Given the description of an element on the screen output the (x, y) to click on. 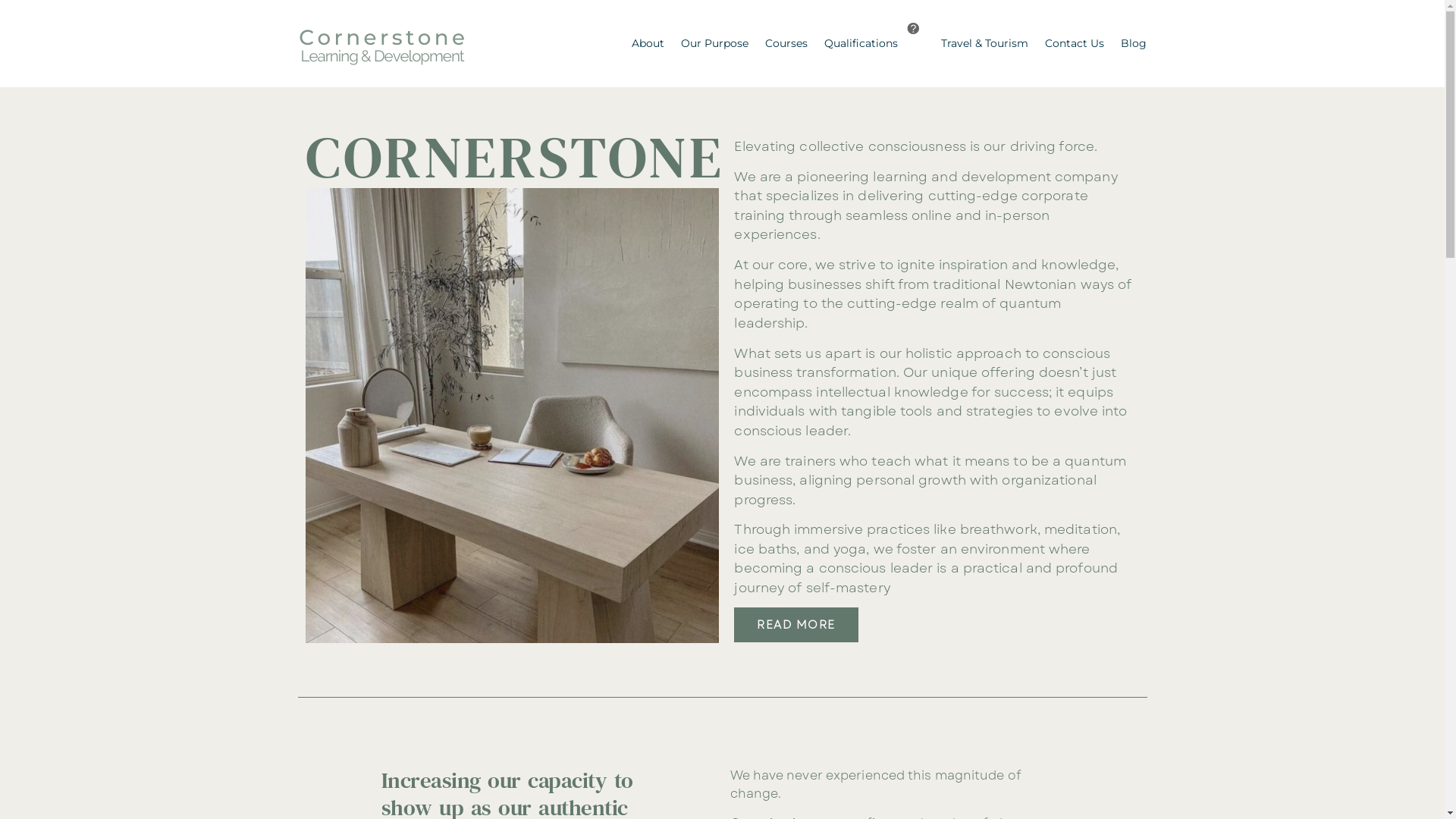
Contact Us Element type: text (1073, 43)
READ MORE Element type: text (796, 624)
About Element type: text (647, 43)
Courses Element type: text (785, 43)
Travel & Tourism Element type: text (984, 43)
Blog Element type: text (1132, 43)
Our Purpose Element type: text (714, 43)
Qualifications Element type: text (860, 43)
